Given the description of an element on the screen output the (x, y) to click on. 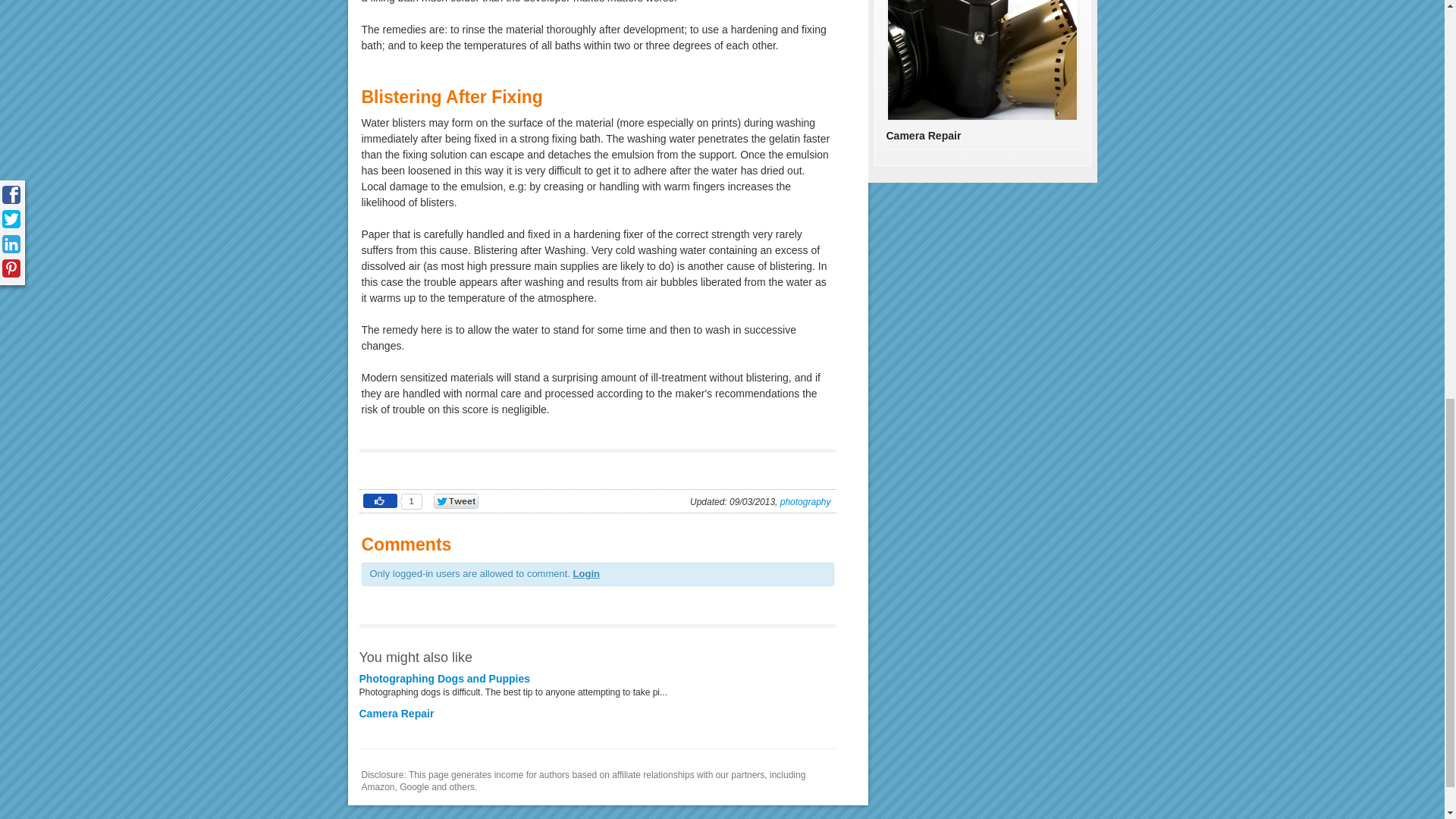
Photographing Dogs and Puppies (445, 678)
photography (805, 501)
Login (586, 573)
Camera Repair (396, 713)
